Given the description of an element on the screen output the (x, y) to click on. 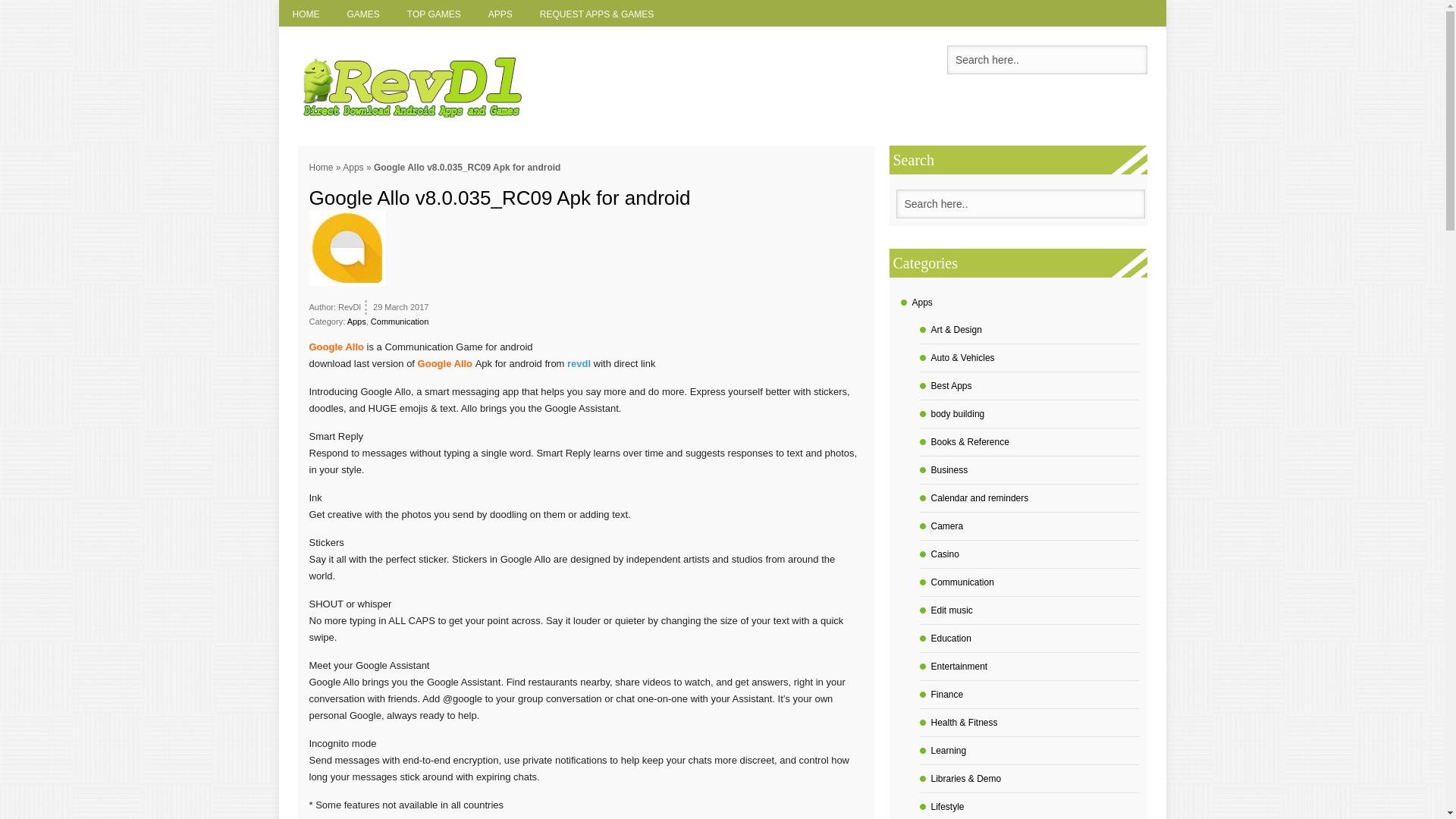
Home (320, 167)
Search here.. (1020, 203)
Calendar and reminders (980, 498)
GAMES (363, 13)
Business (949, 470)
APPS (499, 13)
Apps (352, 167)
Education (951, 638)
Search here.. (1020, 203)
Communication (399, 320)
